Given the description of an element on the screen output the (x, y) to click on. 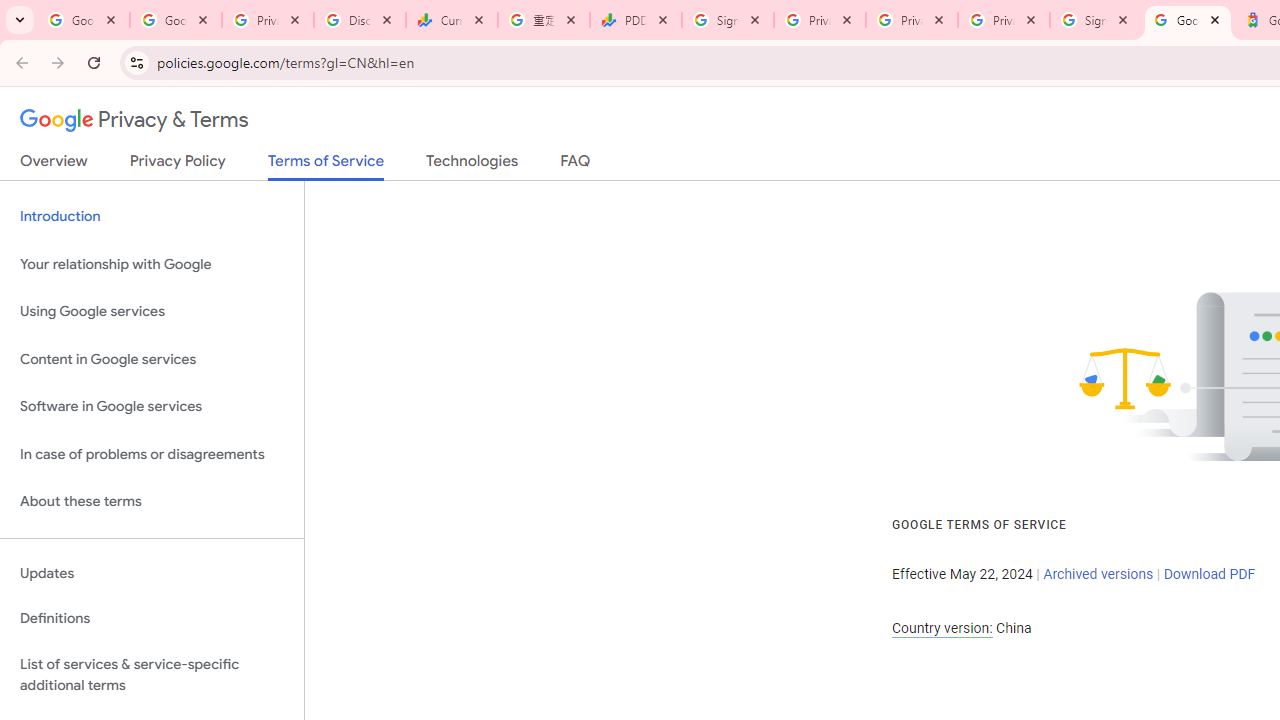
Archived versions (1098, 574)
About these terms (152, 502)
FAQ (575, 165)
Sign in - Google Accounts (1095, 20)
Terms of Service (326, 166)
Privacy & Terms (134, 120)
Definitions (152, 619)
Technologies (472, 165)
Introduction (152, 216)
Using Google services (152, 312)
In case of problems or disagreements (152, 453)
